Given the description of an element on the screen output the (x, y) to click on. 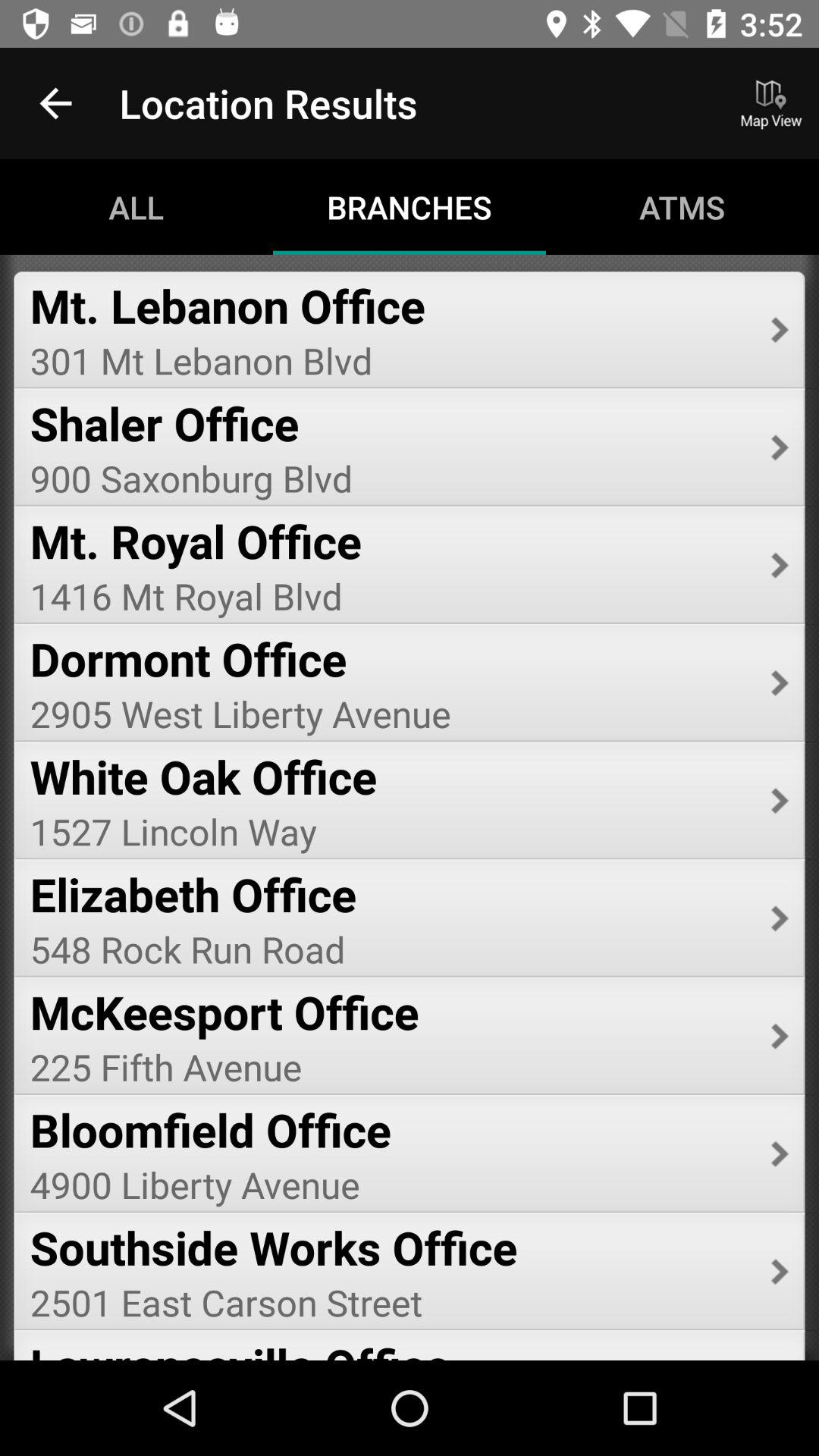
flip to the elizabeth office icon (390, 893)
